Given the description of an element on the screen output the (x, y) to click on. 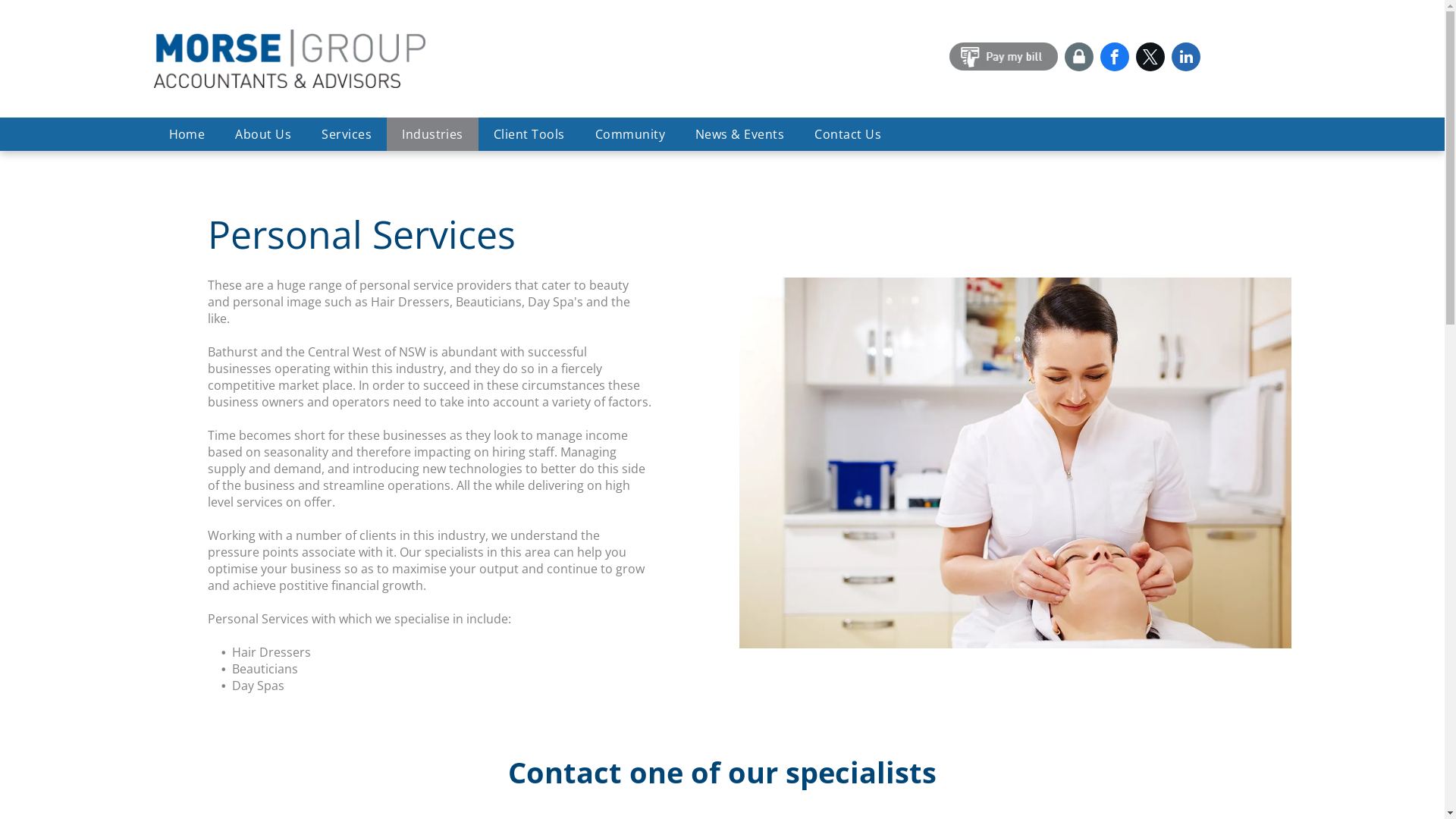
News & Events Element type: text (739, 133)
Industries Element type: text (432, 133)
Home Element type: text (186, 133)
Contact one of our specialists Element type: text (722, 771)
Services Element type: text (346, 133)
About Us Element type: text (262, 133)
Contact Us Element type: text (847, 133)
Community Element type: text (630, 133)
Client Tools Element type: text (529, 133)
